Given the description of an element on the screen output the (x, y) to click on. 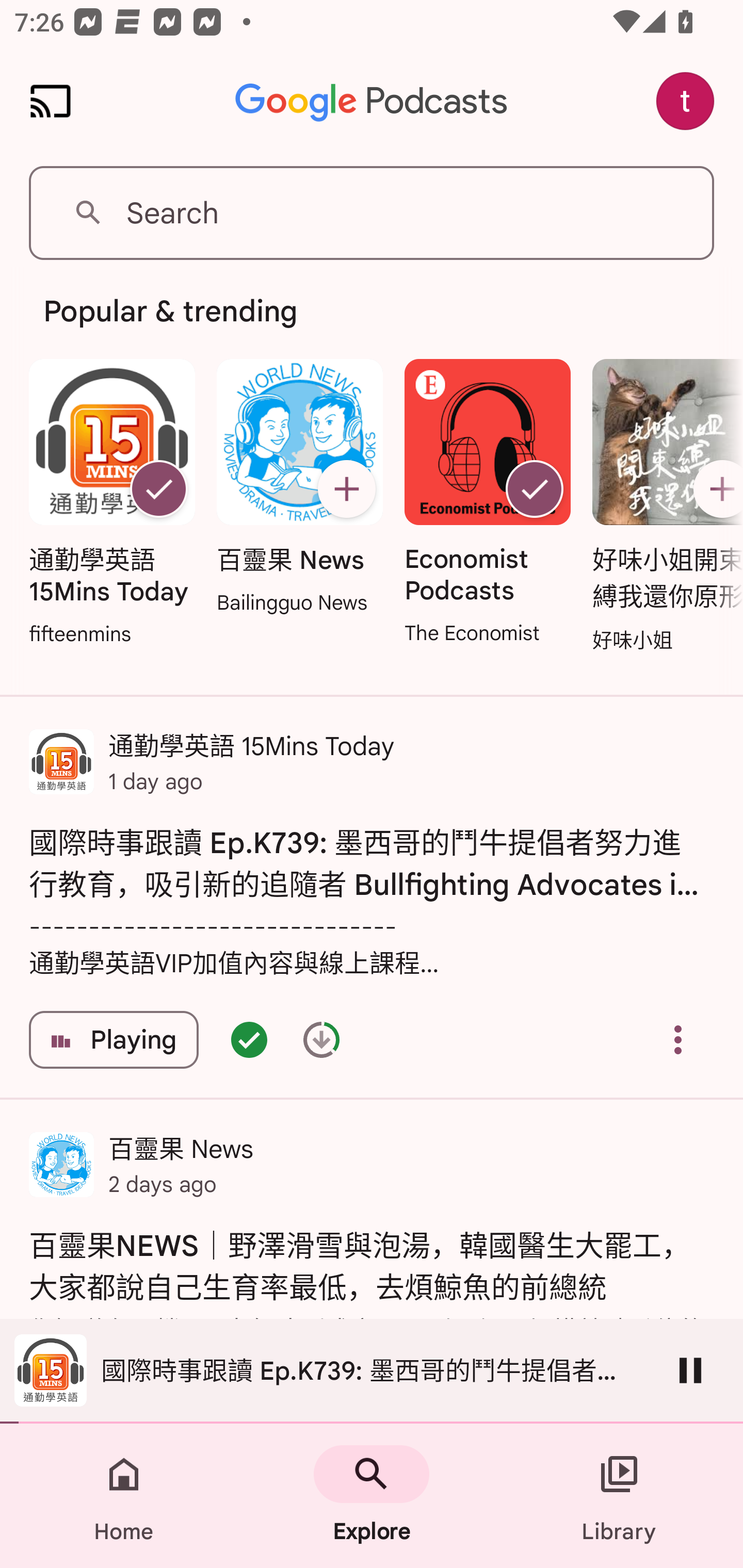
Cast. Disconnected (50, 101)
Search (371, 212)
百靈果 News Subscribe 百靈果 News Bailingguo News (299, 488)
好味小姐開束縛我還你原形 Subscribe 好味小姐開束縛我還你原形 好味小姐 (662, 507)
Unsubscribe (158, 489)
Subscribe (346, 489)
Unsubscribe (534, 489)
Subscribe (714, 489)
Episode queued - double tap for options (249, 1040)
Downloading… - double tap for options 33.0 (321, 1040)
Overflow menu (677, 1040)
Pause (690, 1370)
Home (123, 1495)
Library (619, 1495)
